Given the description of an element on the screen output the (x, y) to click on. 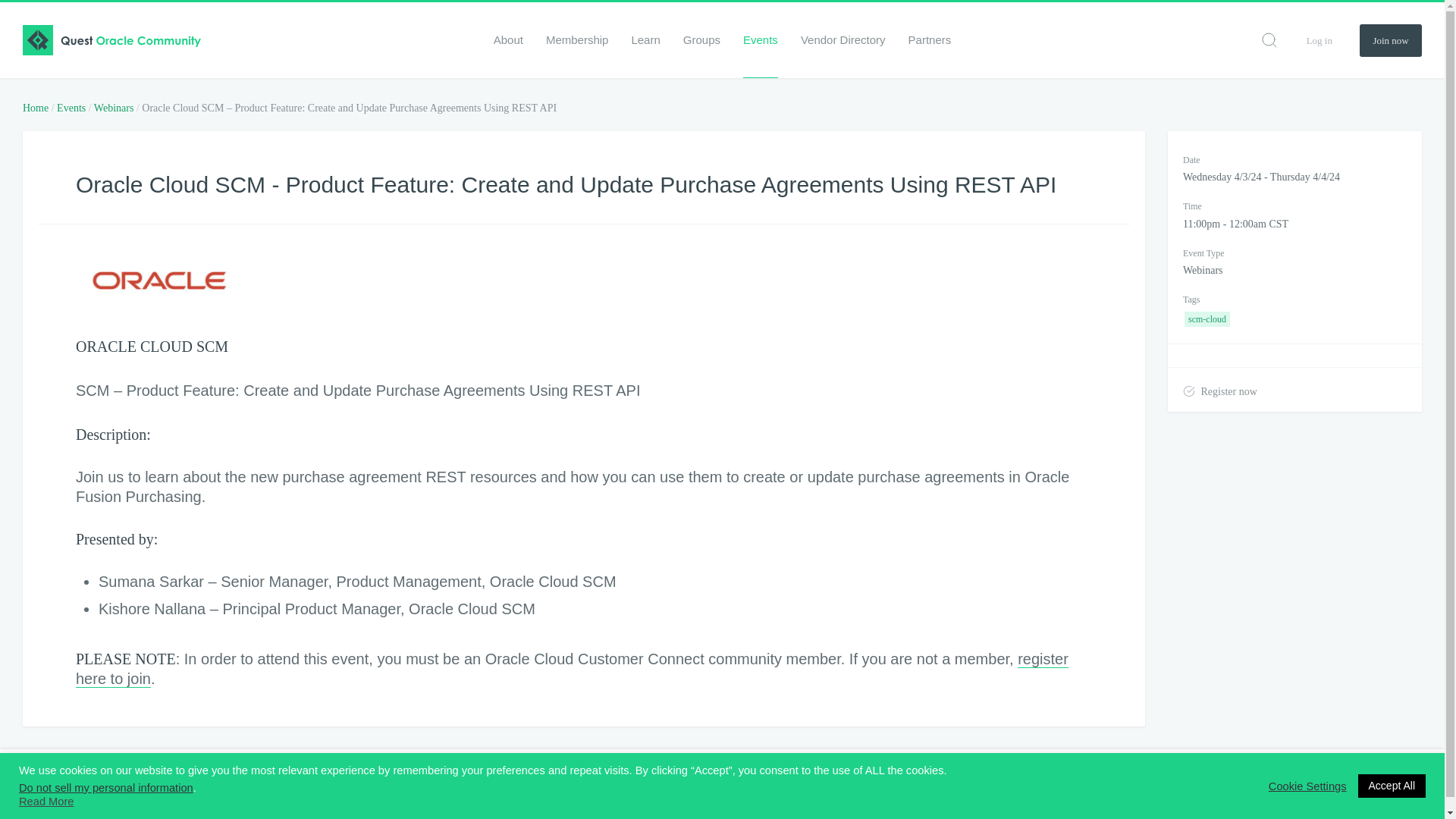
Learn (644, 39)
Accept All (1391, 785)
Quest Oracle Community (111, 40)
Vendor Directory (842, 39)
FAQ (623, 789)
Events (70, 107)
Quest Oracle Community (111, 40)
Log in (1318, 39)
DEI Statement (352, 789)
Quest Oracle Community (34, 789)
Events (759, 39)
Contact (668, 789)
Do not sell my personal information (105, 787)
Cookie Settings (1307, 786)
About (507, 39)
